Given the description of an element on the screen output the (x, y) to click on. 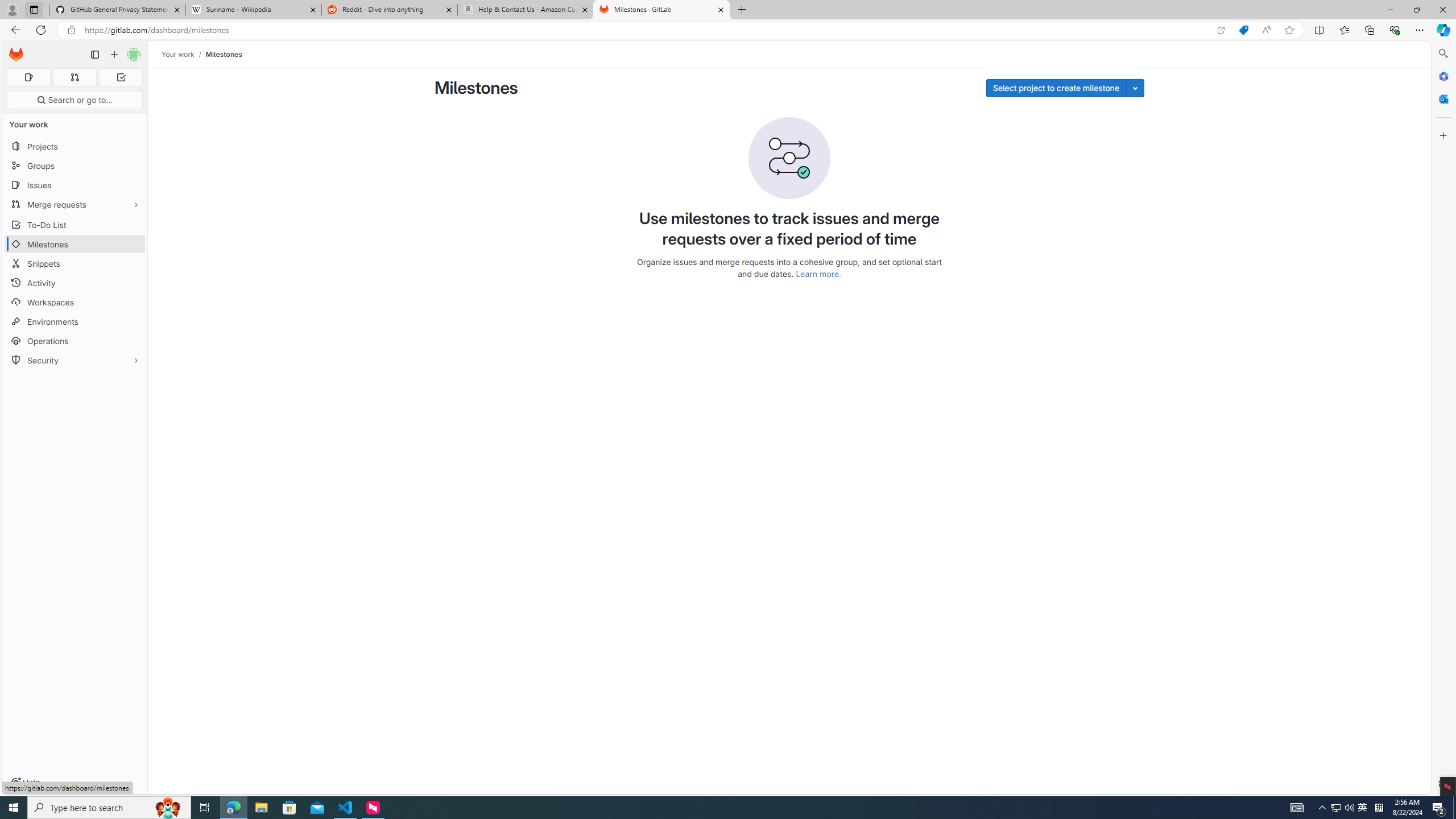
Address and search bar (647, 29)
Snippets (74, 262)
Projects (74, 145)
Security (74, 359)
Customize (1442, 135)
GitHub General Privacy Statement - GitHub Docs (117, 9)
Environments (74, 321)
To-Do List (74, 224)
